Given the description of an element on the screen output the (x, y) to click on. 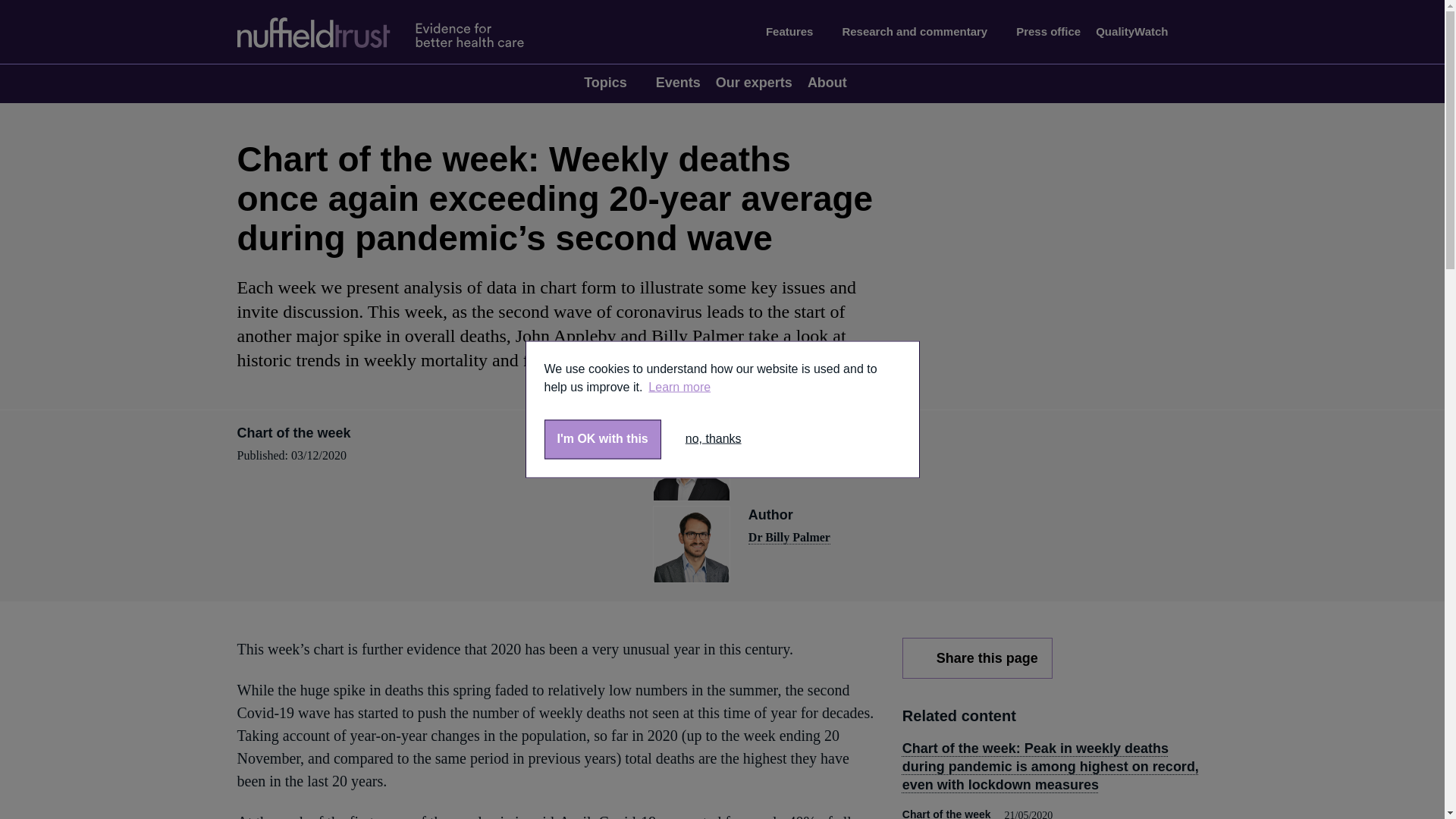
View John Appleby's profile (784, 455)
Return to the homepage (393, 32)
Profile picture of John Appleby (691, 462)
Profile picture of Dr Billy Palmer (691, 544)
Research and commentary (921, 31)
View Dr Billy Palmer's profile (788, 537)
Features (796, 31)
